Given the description of an element on the screen output the (x, y) to click on. 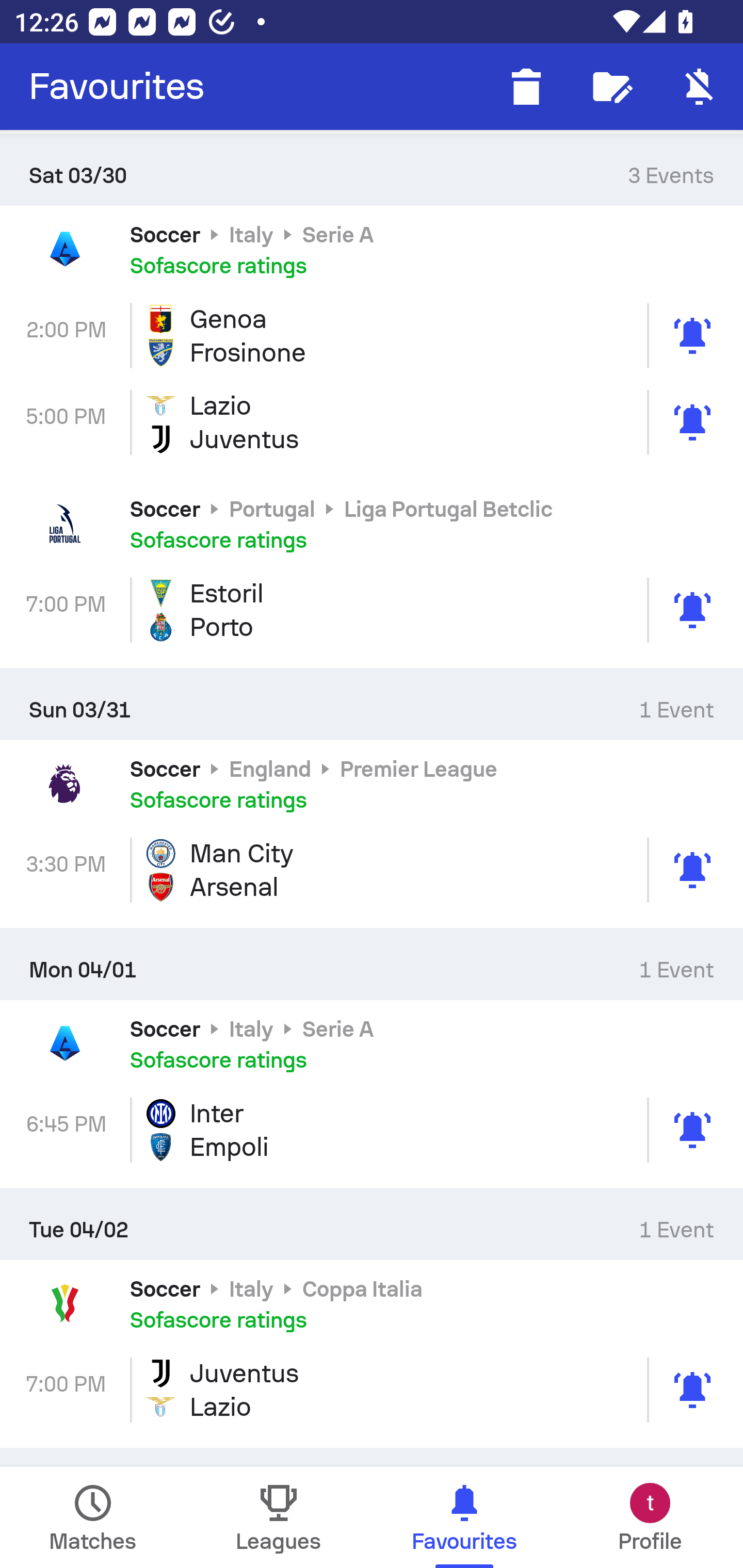
Favourites (116, 86)
Delete finished (525, 86)
Follow editor (612, 86)
Enable notifications (699, 86)
Sat 03/30 3 Events (371, 169)
Soccer Italy Serie A Sofascore ratings (371, 249)
2:00 PM Genoa Frosinone (371, 336)
5:00 PM Lazio Juventus (371, 422)
7:00 PM Estoril Porto (371, 610)
Sun 03/31 1 Event (371, 703)
Soccer England Premier League Sofascore ratings (371, 783)
3:30 PM Man City Arsenal (371, 870)
Mon 04/01 1 Event (371, 964)
Soccer Italy Serie A Sofascore ratings (371, 1043)
6:45 PM Inter Empoli (371, 1129)
Tue 04/02 1 Event (371, 1224)
Soccer Italy Coppa Italia Sofascore ratings (371, 1303)
7:00 PM Juventus Lazio (371, 1389)
Matches (92, 1517)
Leagues (278, 1517)
Profile (650, 1517)
